Given the description of an element on the screen output the (x, y) to click on. 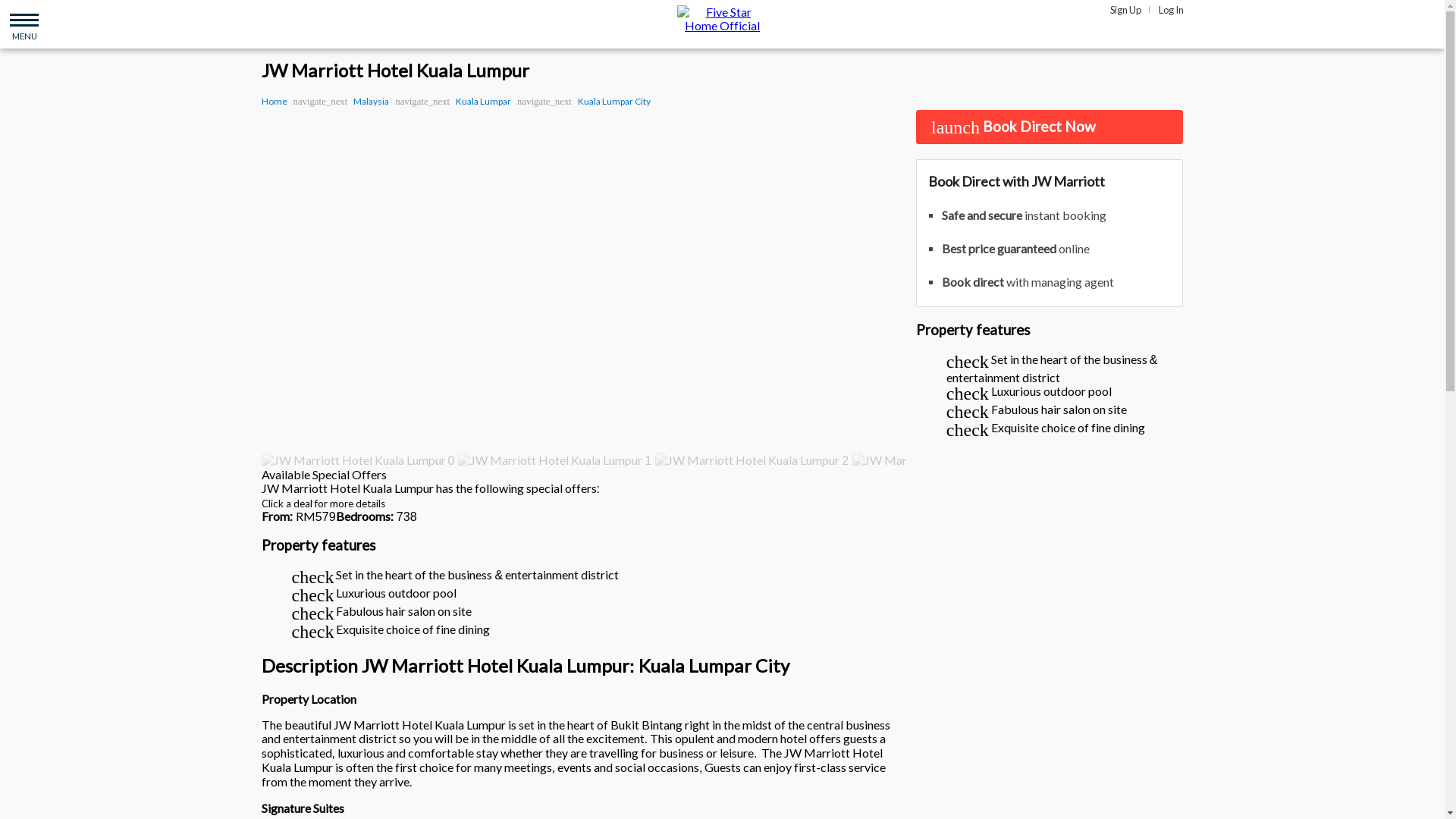
5-Star Luxury Accommodation Worldwide (722, 18)
Malaysia (370, 101)
launch Book Direct Now (1049, 126)
MENU (24, 24)
Home (273, 101)
Kuala Lumpar (483, 101)
Kuala Lumpar City (614, 101)
